Given the description of an element on the screen output the (x, y) to click on. 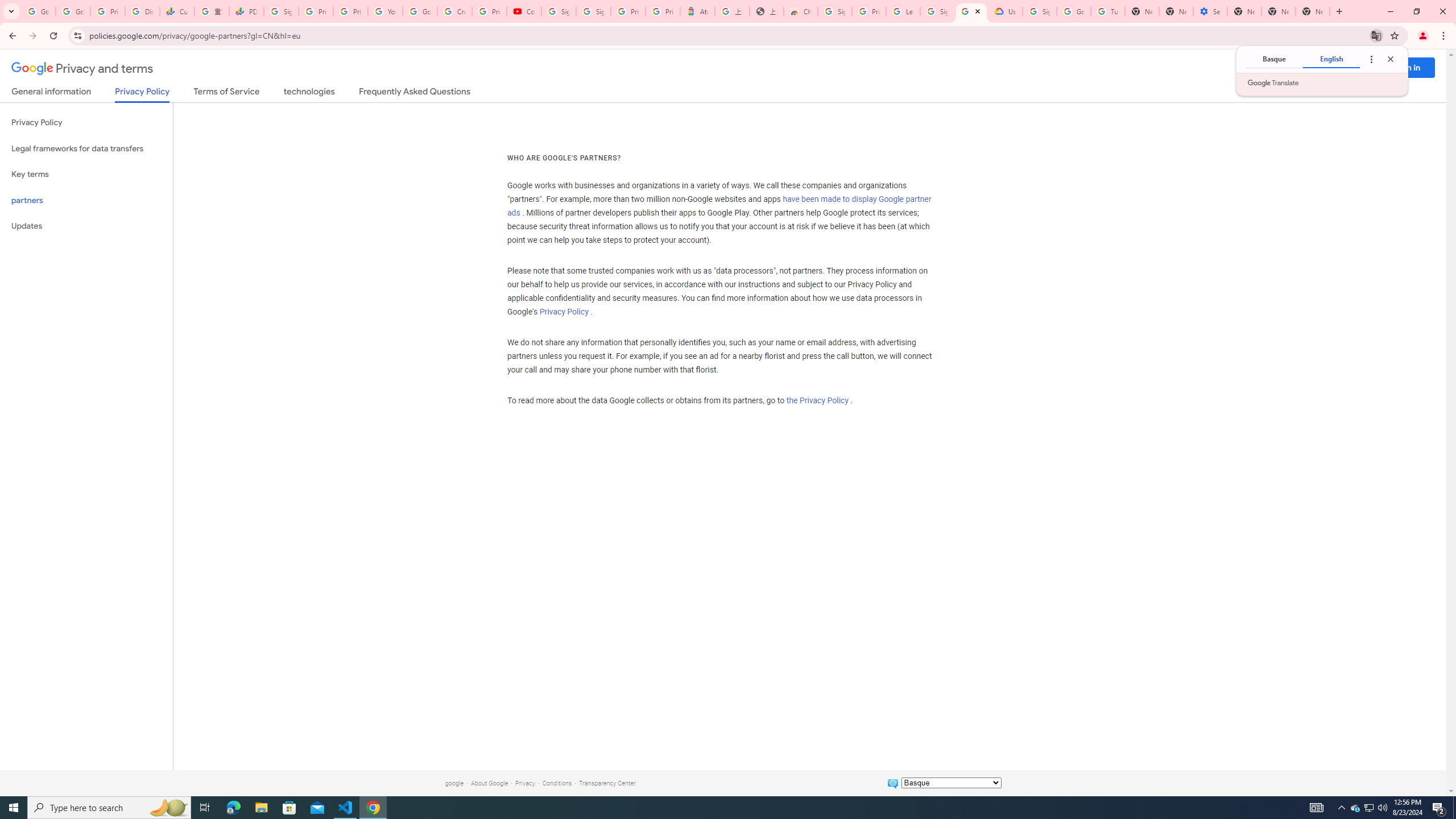
AutomationID: 4105 (1316, 807)
Search highlights icon opens search home window (167, 807)
Conditions (556, 783)
Google Workspace Admin Community (38, 11)
Google Account Help (1073, 11)
Sign in - Google Accounts (937, 11)
Privacy Checkup (349, 11)
Notification Chevron (1341, 807)
the Privacy Policy (817, 400)
PDD Holdings Inc - ADR (PDD) Price & News - Google Finance (246, 11)
Microsoft Store (289, 807)
